Given the description of an element on the screen output the (x, y) to click on. 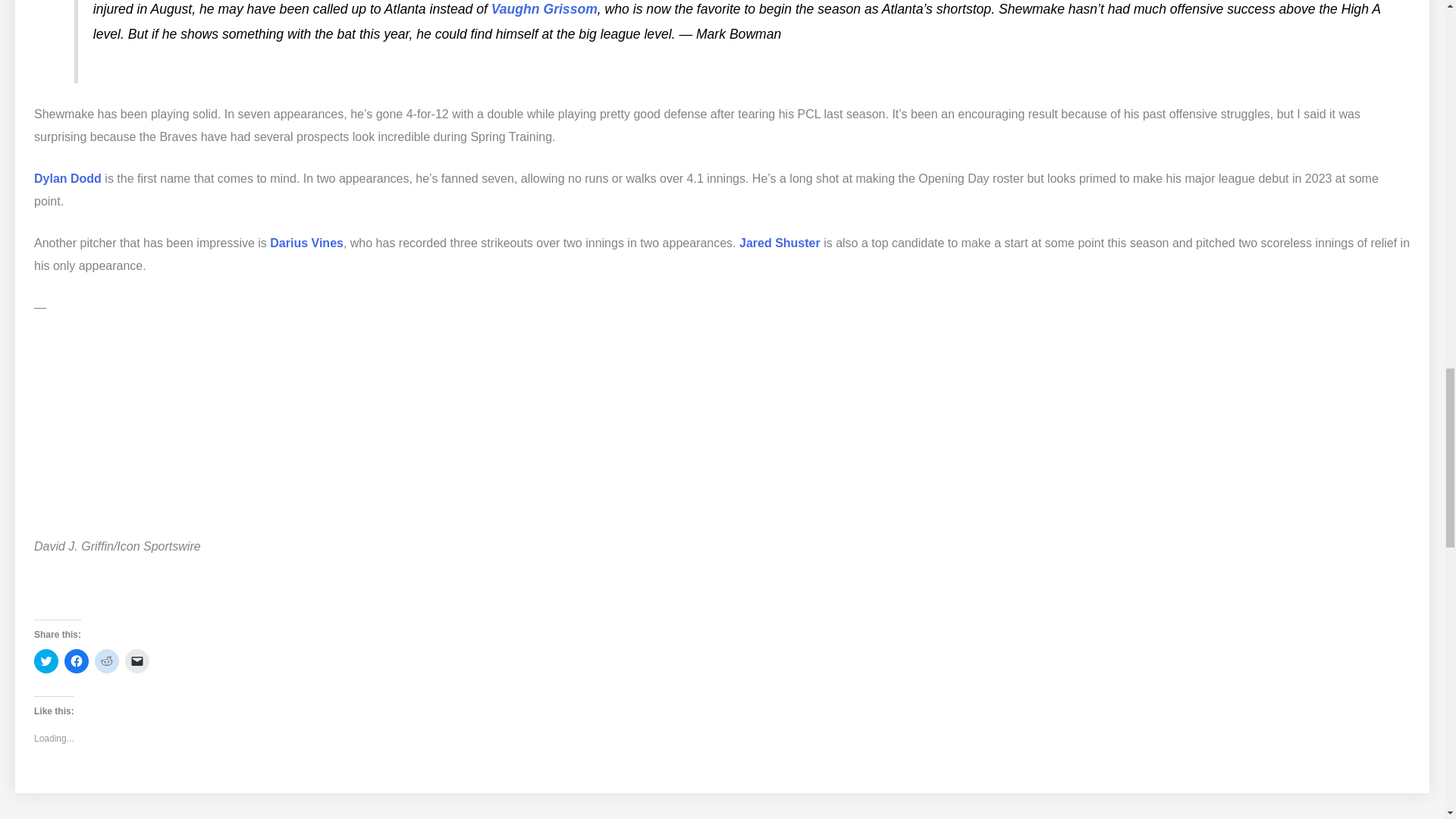
Click to share on Facebook (76, 661)
Click to email a link to a friend (137, 661)
Click to share on Reddit (106, 661)
Click to share on Twitter (45, 661)
